Given the description of an element on the screen output the (x, y) to click on. 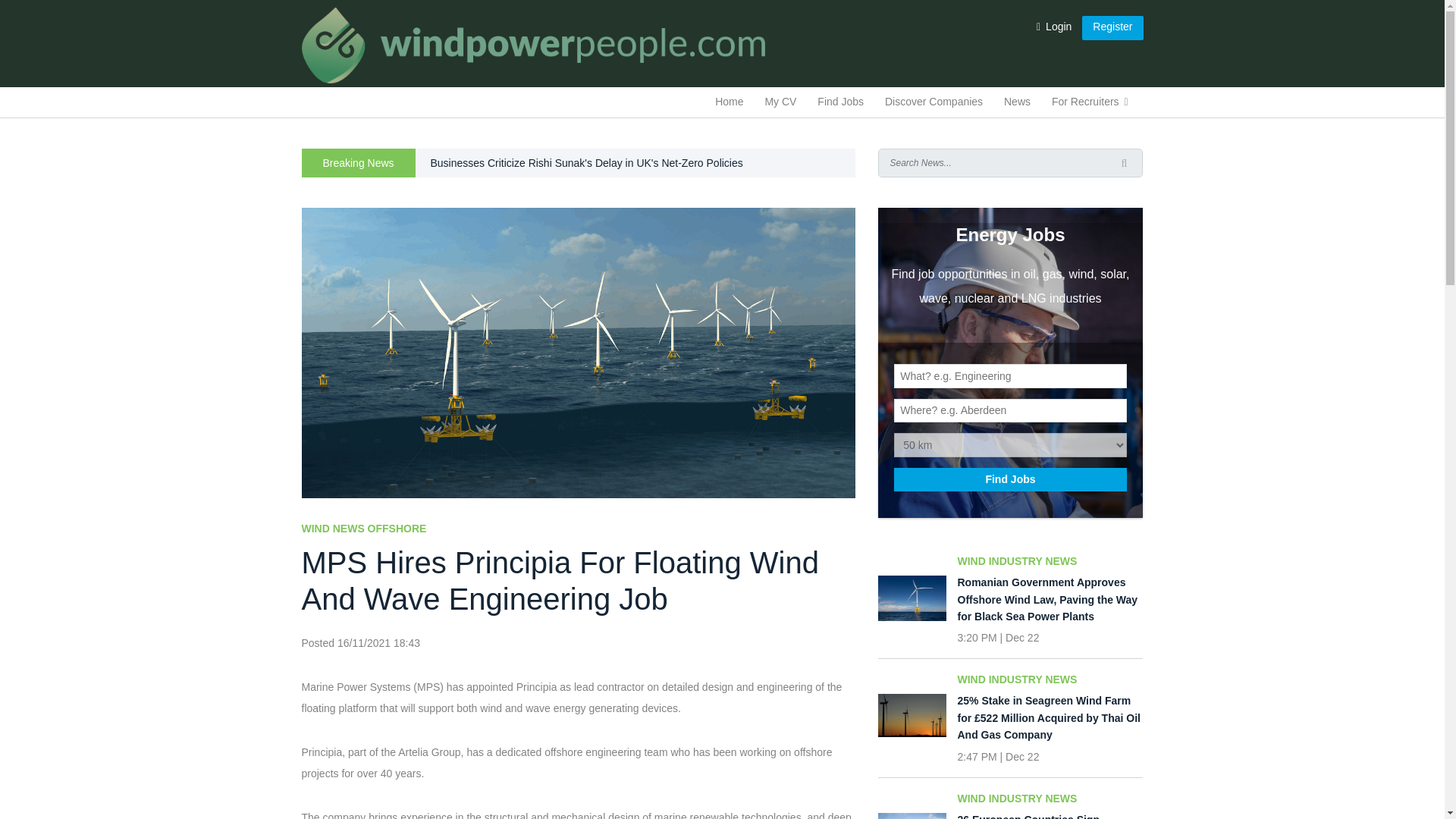
WIND INDUSTRY NEWS (1049, 679)
Find Jobs (1009, 479)
News (1016, 99)
seagreen-article-image.jpg (911, 597)
Home (729, 99)
WIND INDUSTRY NEWS (1049, 798)
Login (1053, 27)
Vestas-V164-10-MW-1024x576.jpg (911, 816)
Register (1111, 27)
My CV (780, 99)
WIND INDUSTRY NEWS (1049, 561)
Discover Companies (933, 99)
